Given the description of an element on the screen output the (x, y) to click on. 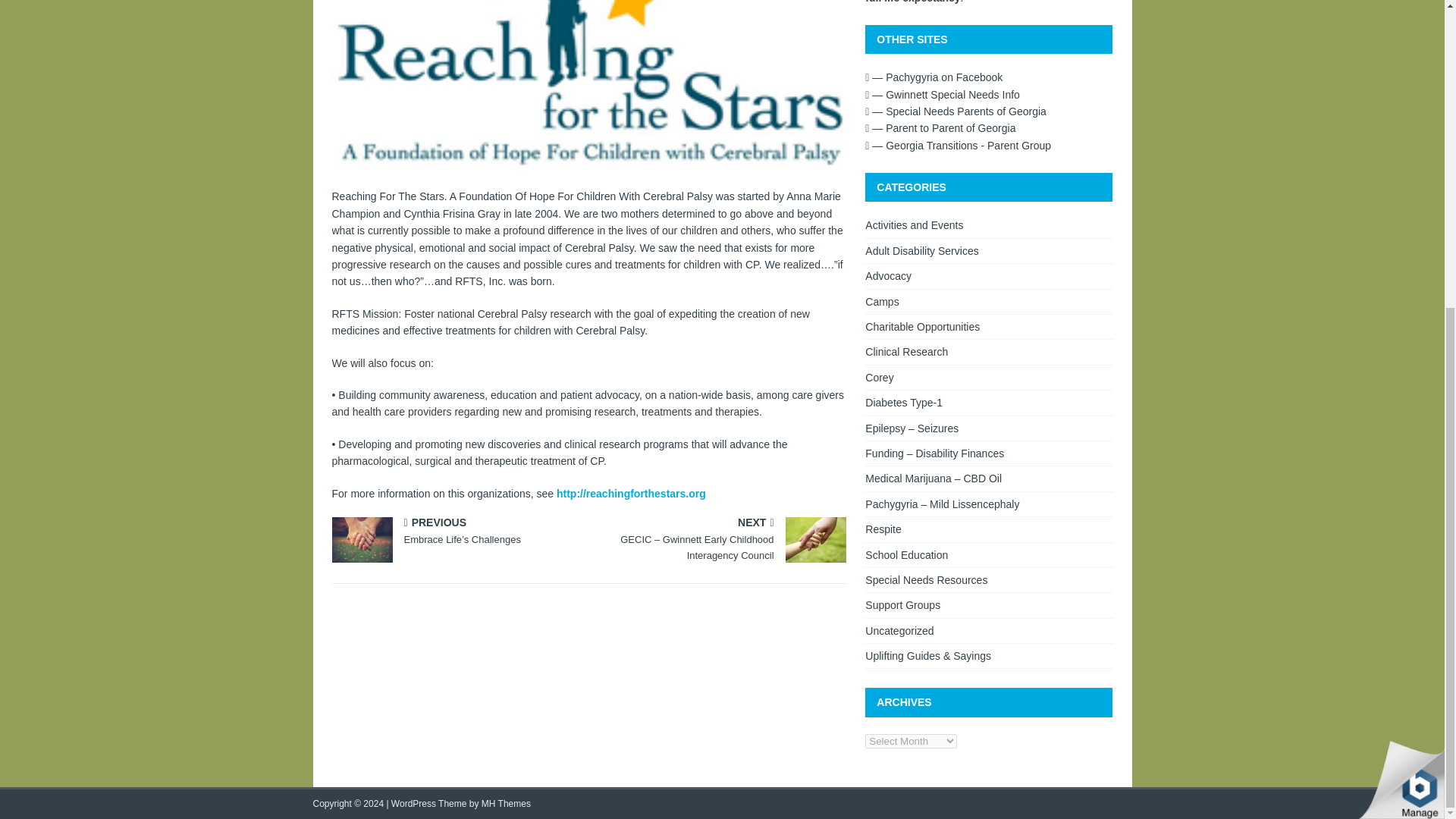
Georgia Transitions - Parent Group (957, 145)
RFTSlogo250x131 (588, 86)
Pachygyria on Facebook (933, 77)
Special Needs Parents of Georgia (955, 111)
Gwinnett Special Needs Info (942, 94)
Parent to Parent of Georgia (939, 128)
